Given the description of an element on the screen output the (x, y) to click on. 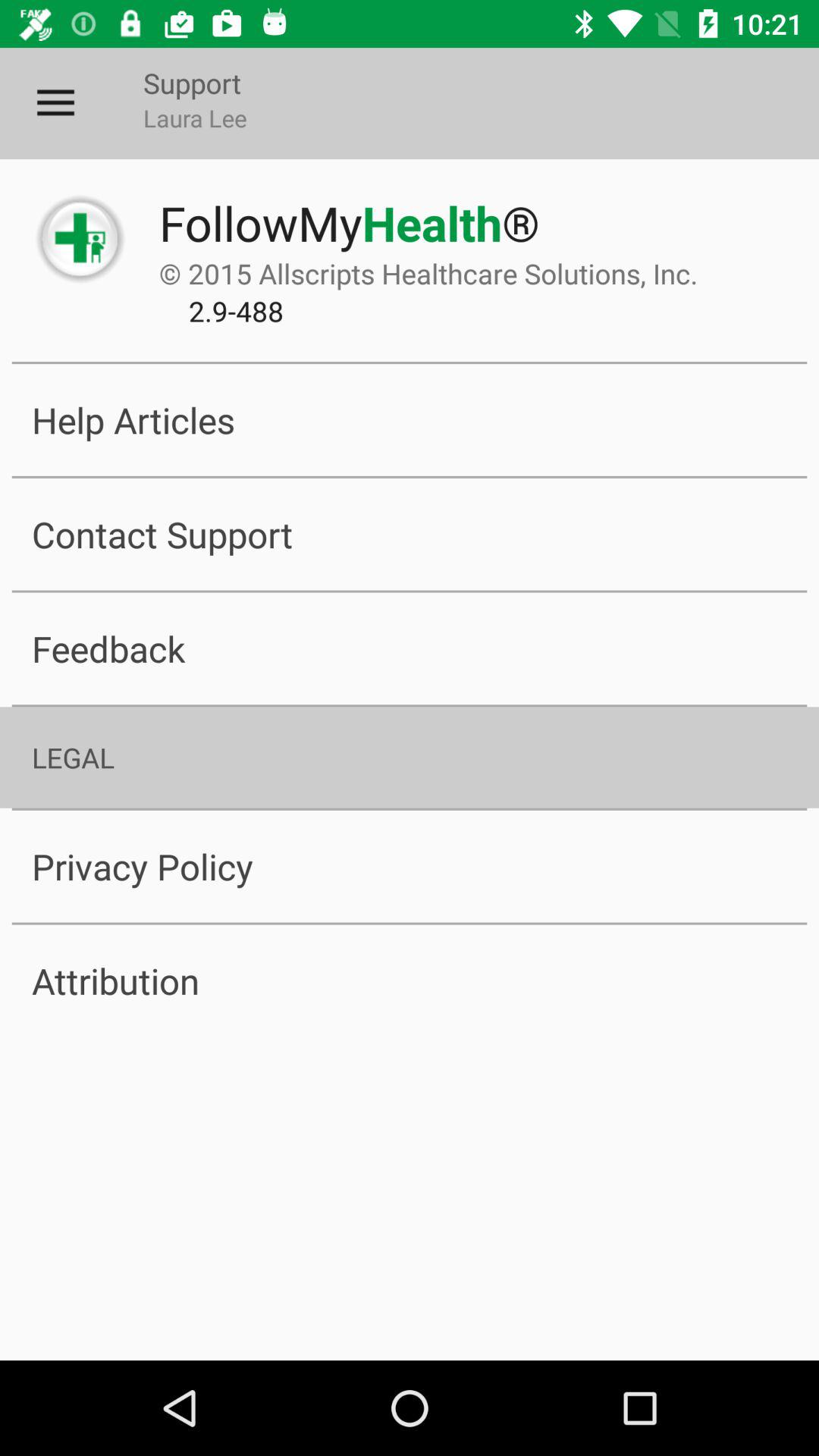
press the item below the legal item (409, 866)
